Given the description of an element on the screen output the (x, y) to click on. 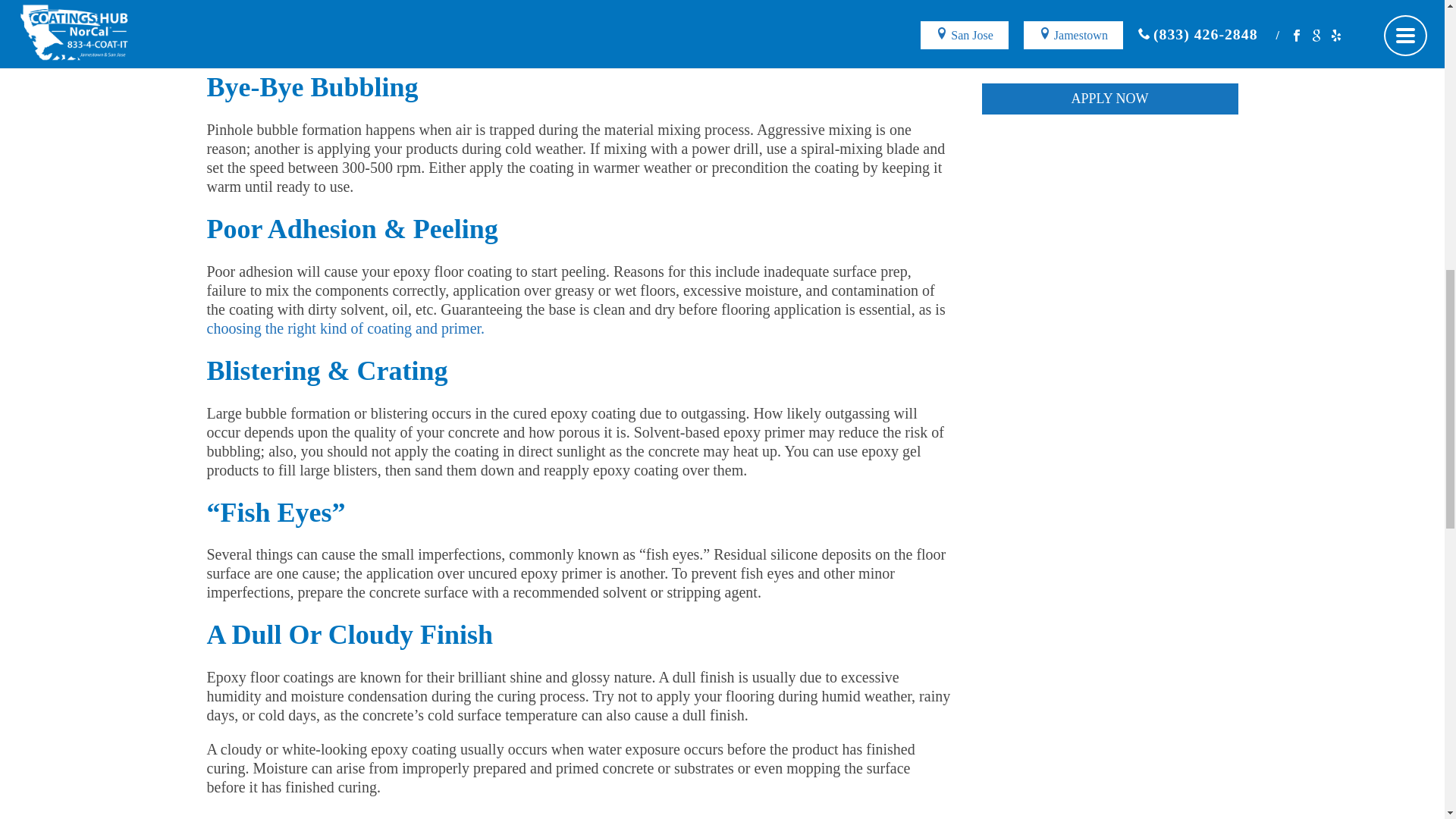
choosing the right kind of coating and primer. (345, 328)
APPLY NOW (1109, 98)
